Given the description of an element on the screen output the (x, y) to click on. 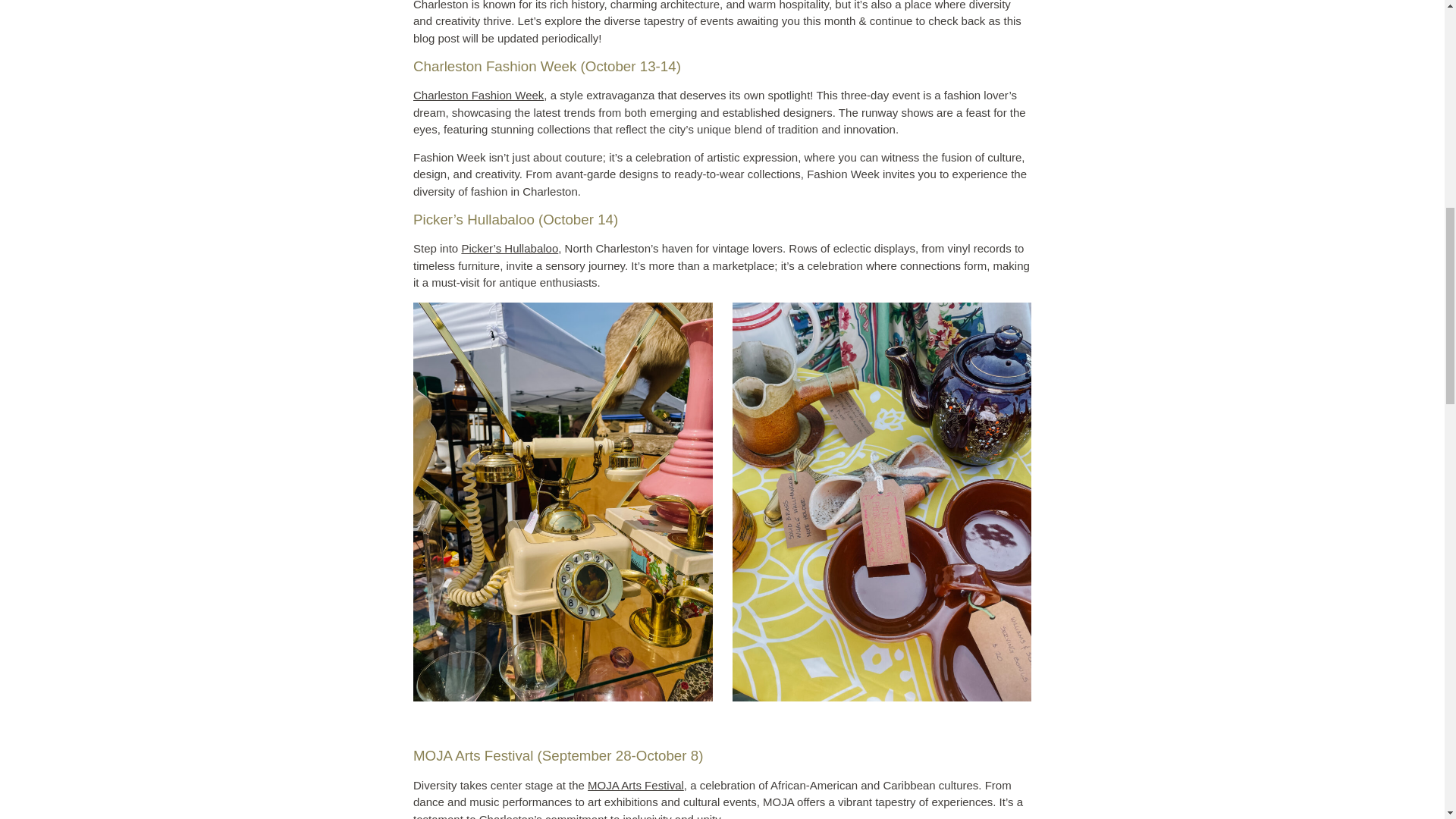
Charleston Fashion Week (478, 94)
MOJA Arts Festival (636, 784)
